Given the description of an element on the screen output the (x, y) to click on. 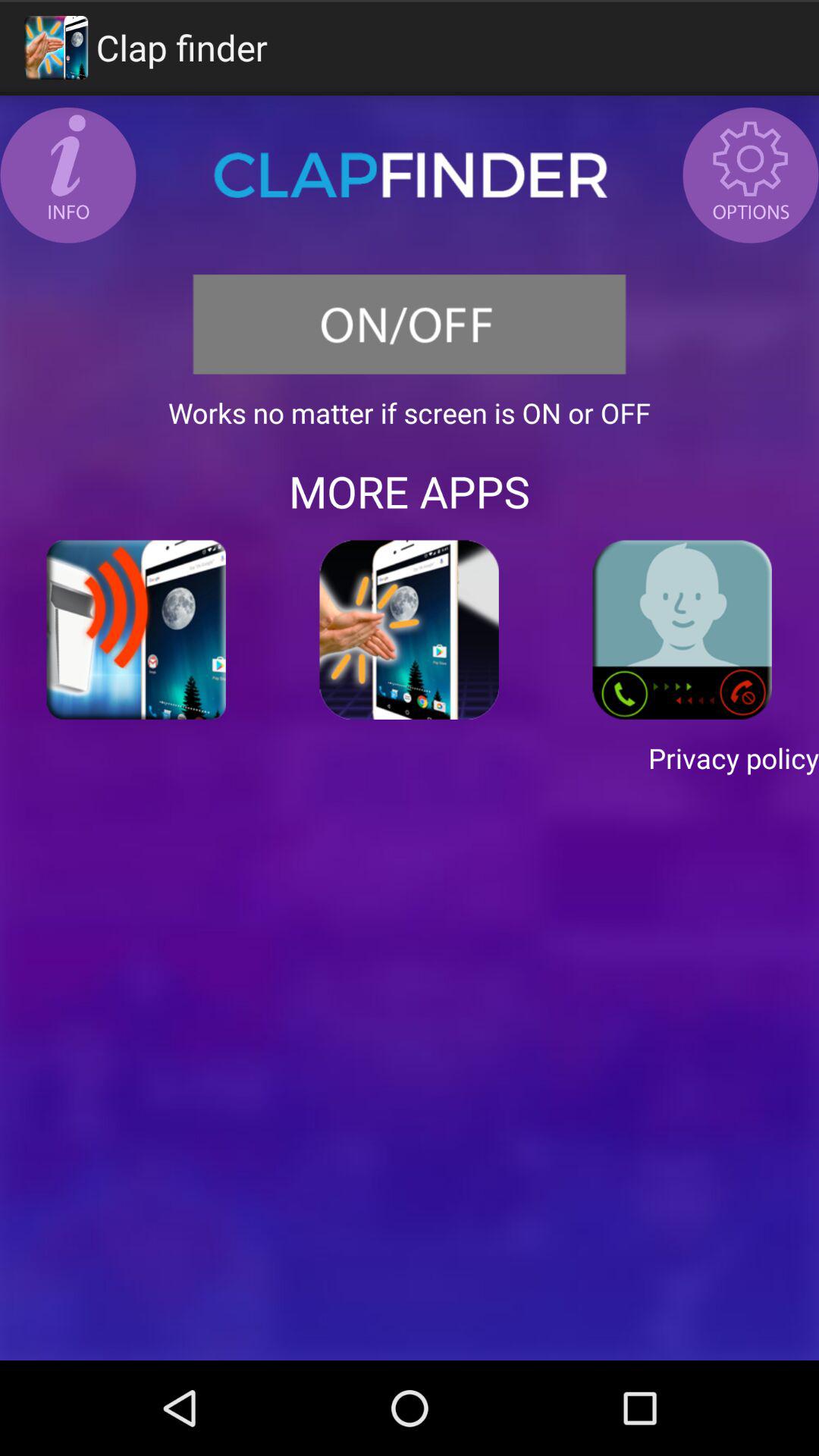
launch the icon above the works no matter app (409, 324)
